Given the description of an element on the screen output the (x, y) to click on. 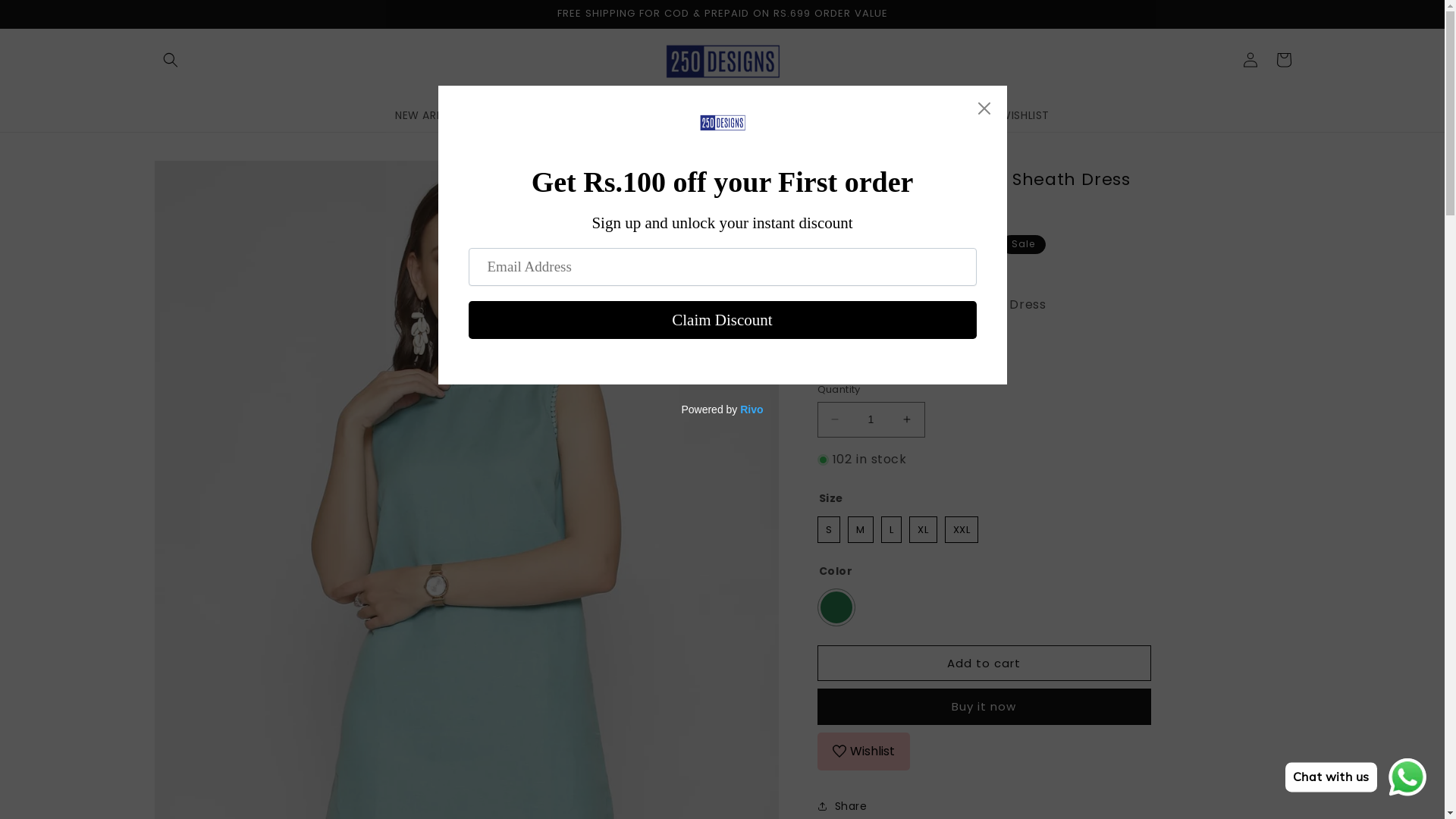
Increase quantity for Sea Green Sleeveless Sheath Dress Element type: text (907, 419)
Decrease quantity for Sea Green Sleeveless Sheath Dress Element type: text (834, 419)
SHIRTS Element type: text (734, 115)
NEW ARRIVAL Element type: text (429, 115)
ELITE-COLLECTION Element type: text (646, 115)
Buy it now Element type: text (984, 706)
Add to cart Element type: text (984, 662)
BOTTOMS Element type: text (799, 115)
Cart Element type: text (1282, 59)
TOPS Element type: text (562, 115)
DRESSES Element type: text (506, 115)
Skip to product information Element type: text (199, 176)
Size Guide Element type: text (873, 352)
JACKET & BLAZER Element type: text (892, 115)
WISHLIST Element type: text (1024, 115)
SALE Element type: text (969, 115)
Wishlist Element type: text (863, 751)
Log in Element type: text (1249, 59)
